Given the description of an element on the screen output the (x, y) to click on. 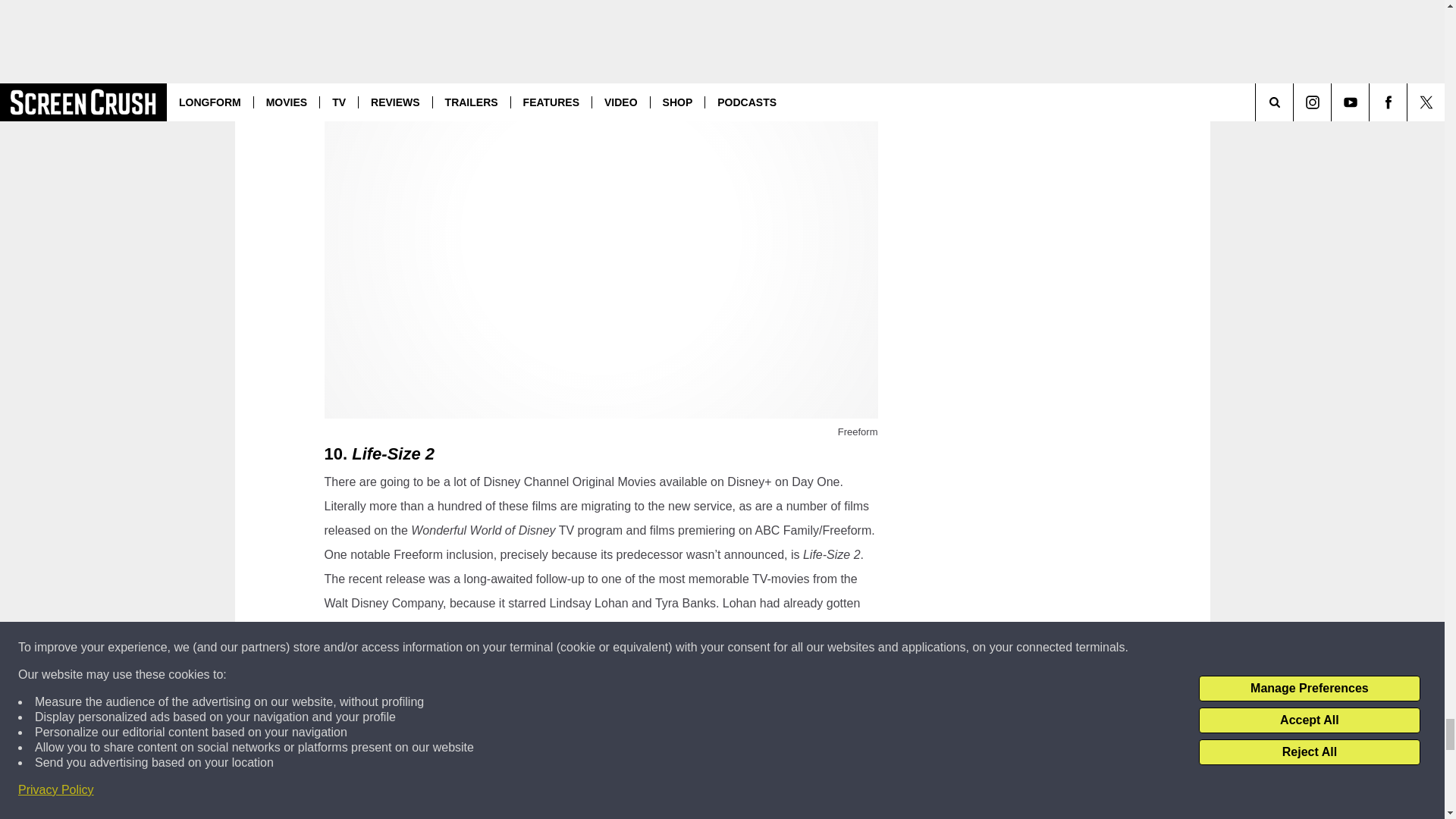
GET THE SCREENCRUSH MOBILE APP (600, 759)
Commerce (414, 817)
Disney Plus (474, 817)
